Given the description of an element on the screen output the (x, y) to click on. 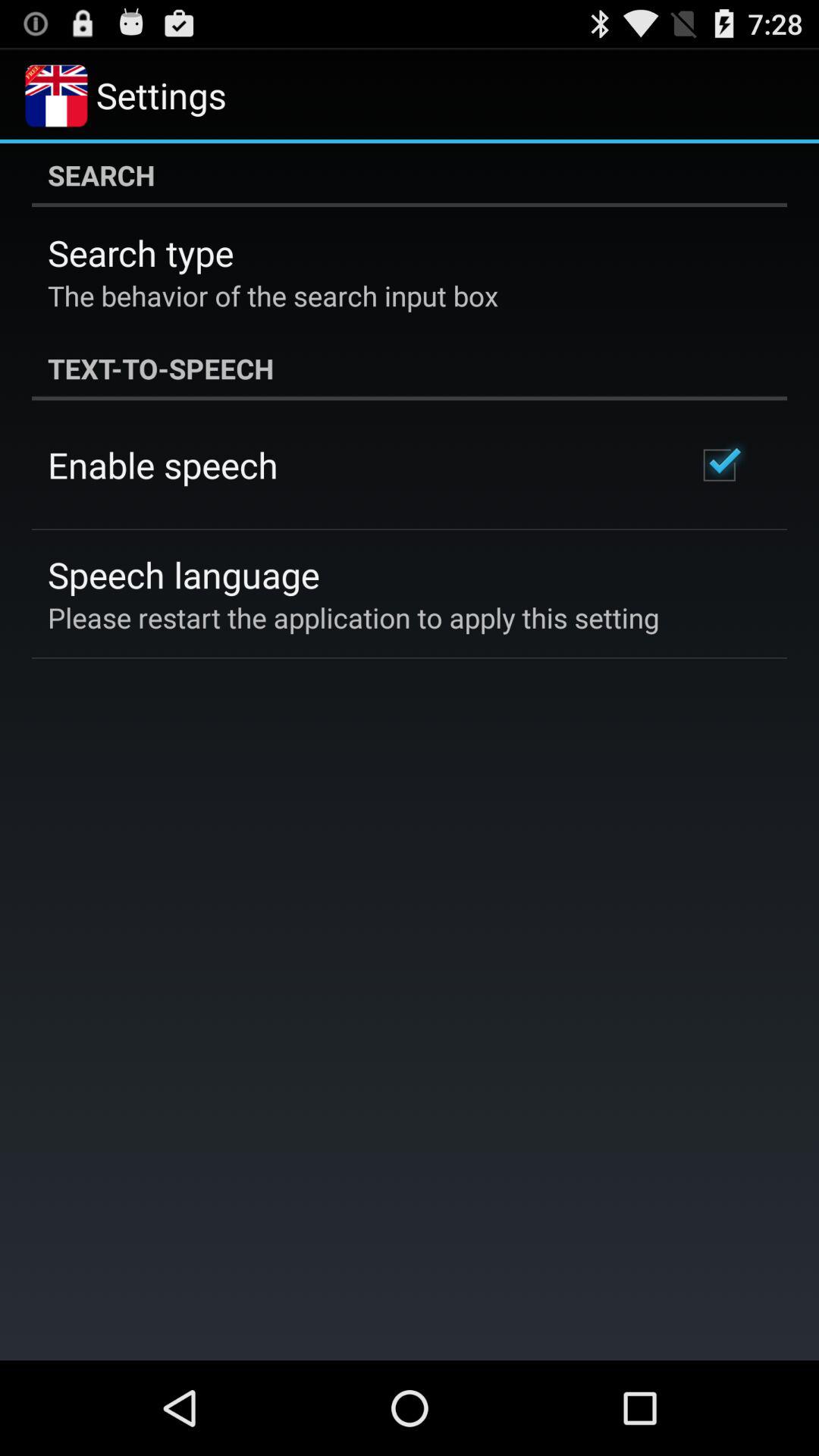
launch the speech language item (183, 574)
